Given the description of an element on the screen output the (x, y) to click on. 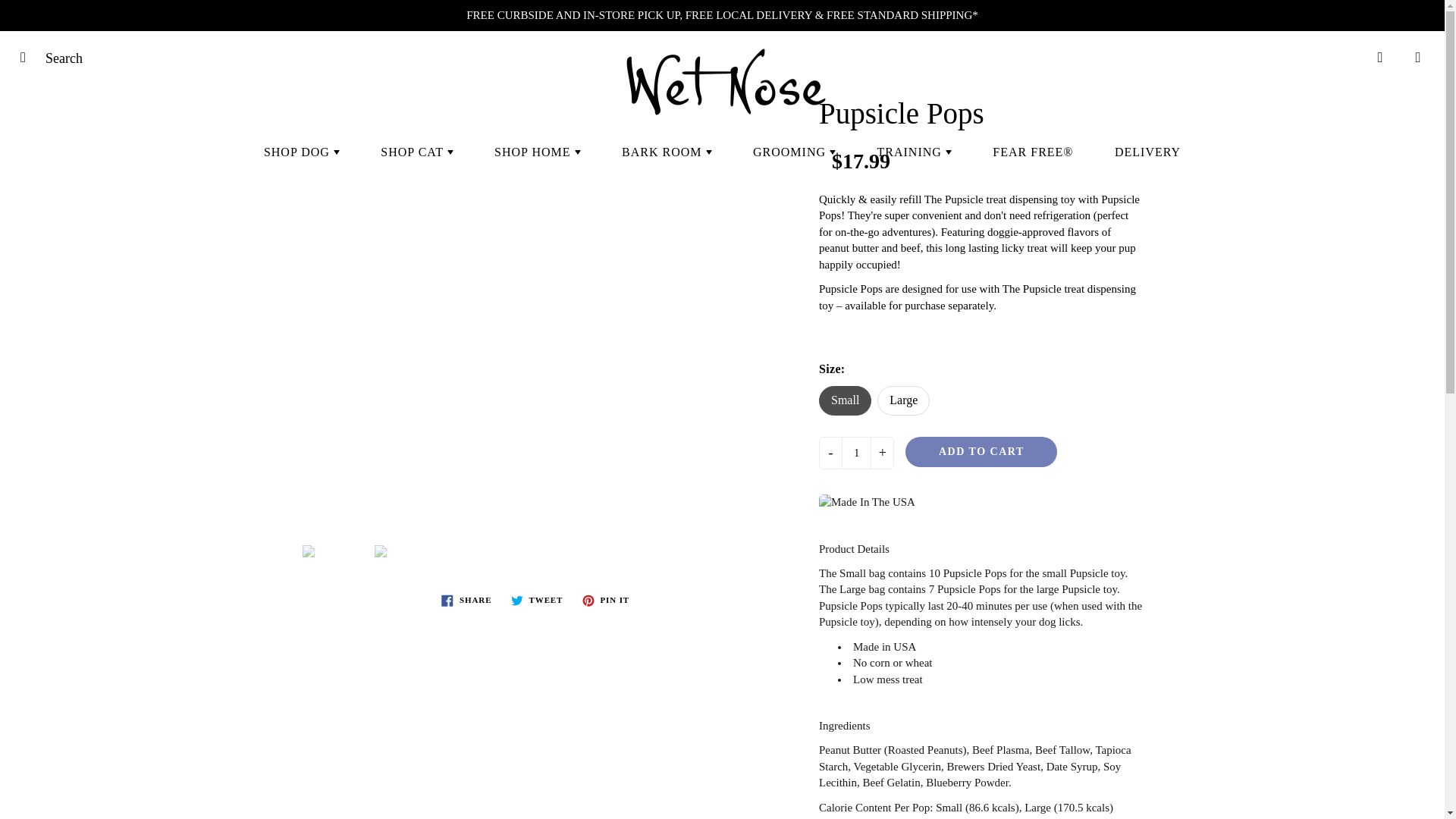
Pupsicle Pops (334, 551)
SHOP DOG (301, 152)
My account (1379, 56)
Search (28, 56)
Pupsicle Pops (406, 551)
Tweet on Twitter (537, 600)
You have 0 items in your cart (1417, 56)
Pupsicle Pops (262, 551)
1 (855, 452)
Share on Facebook (466, 600)
